Given the description of an element on the screen output the (x, y) to click on. 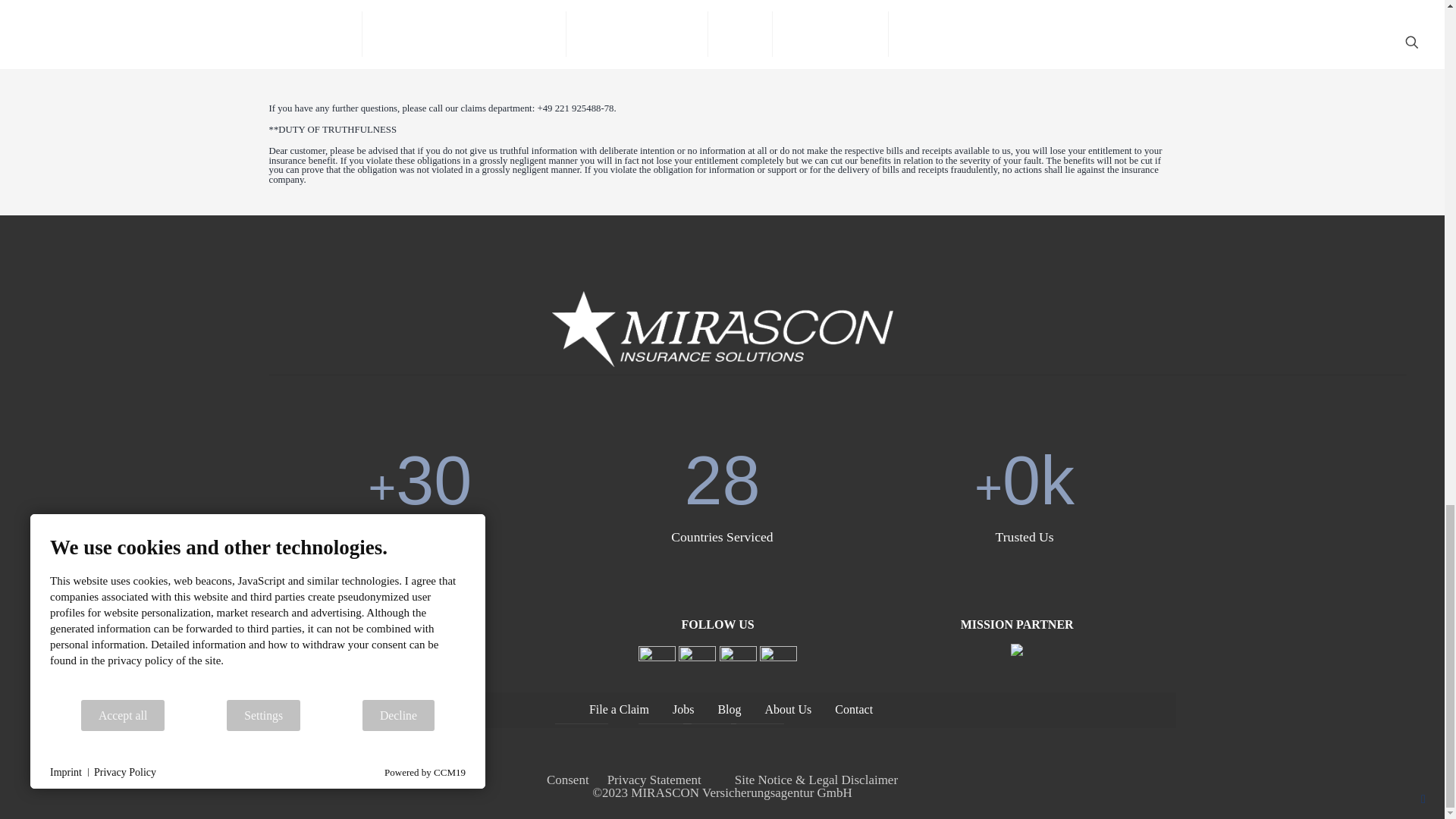
Privacy Statement (654, 780)
File a Claim (617, 709)
SUBMIT (314, 7)
Blog (727, 709)
Consent (568, 780)
About Us (787, 709)
Contact (852, 709)
SUBMIT (314, 7)
